Given the description of an element on the screen output the (x, y) to click on. 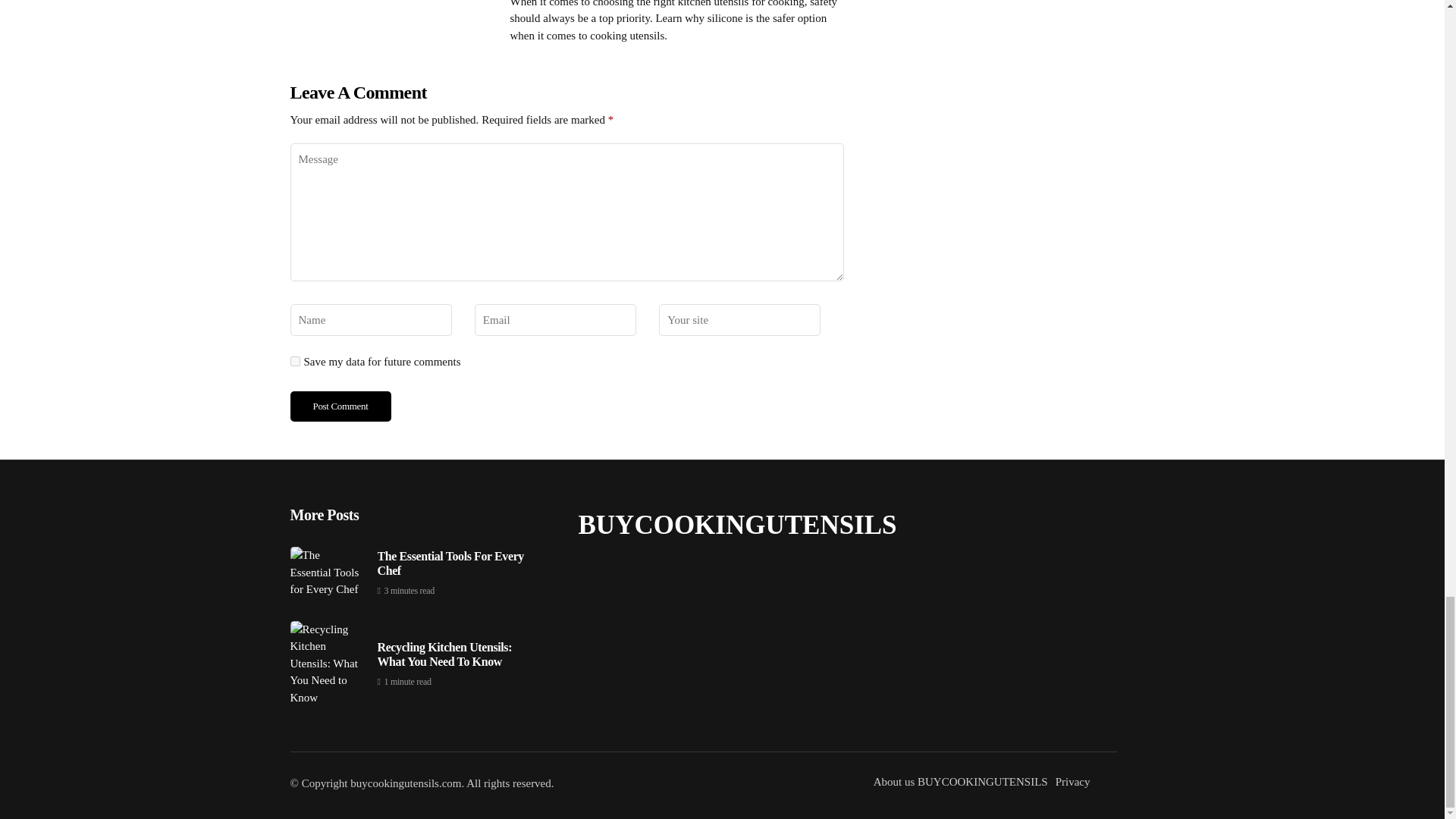
Post Comment (339, 406)
Post Comment (339, 406)
yes (294, 361)
